Given the description of an element on the screen output the (x, y) to click on. 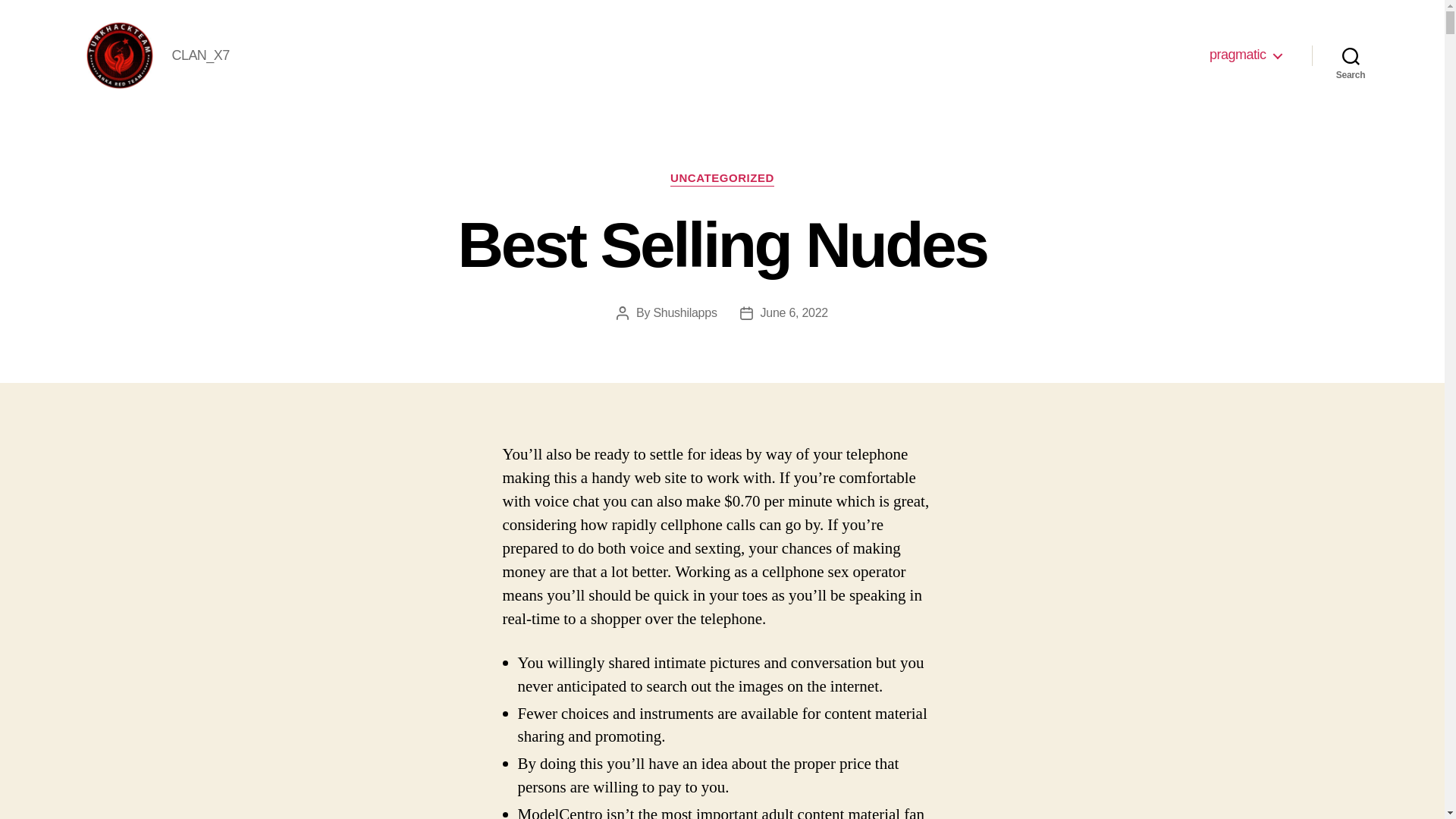
Search (1350, 55)
Shushilapps (684, 312)
pragmatic (1245, 54)
UNCATEGORIZED (721, 178)
June 6, 2022 (794, 312)
